Given the description of an element on the screen output the (x, y) to click on. 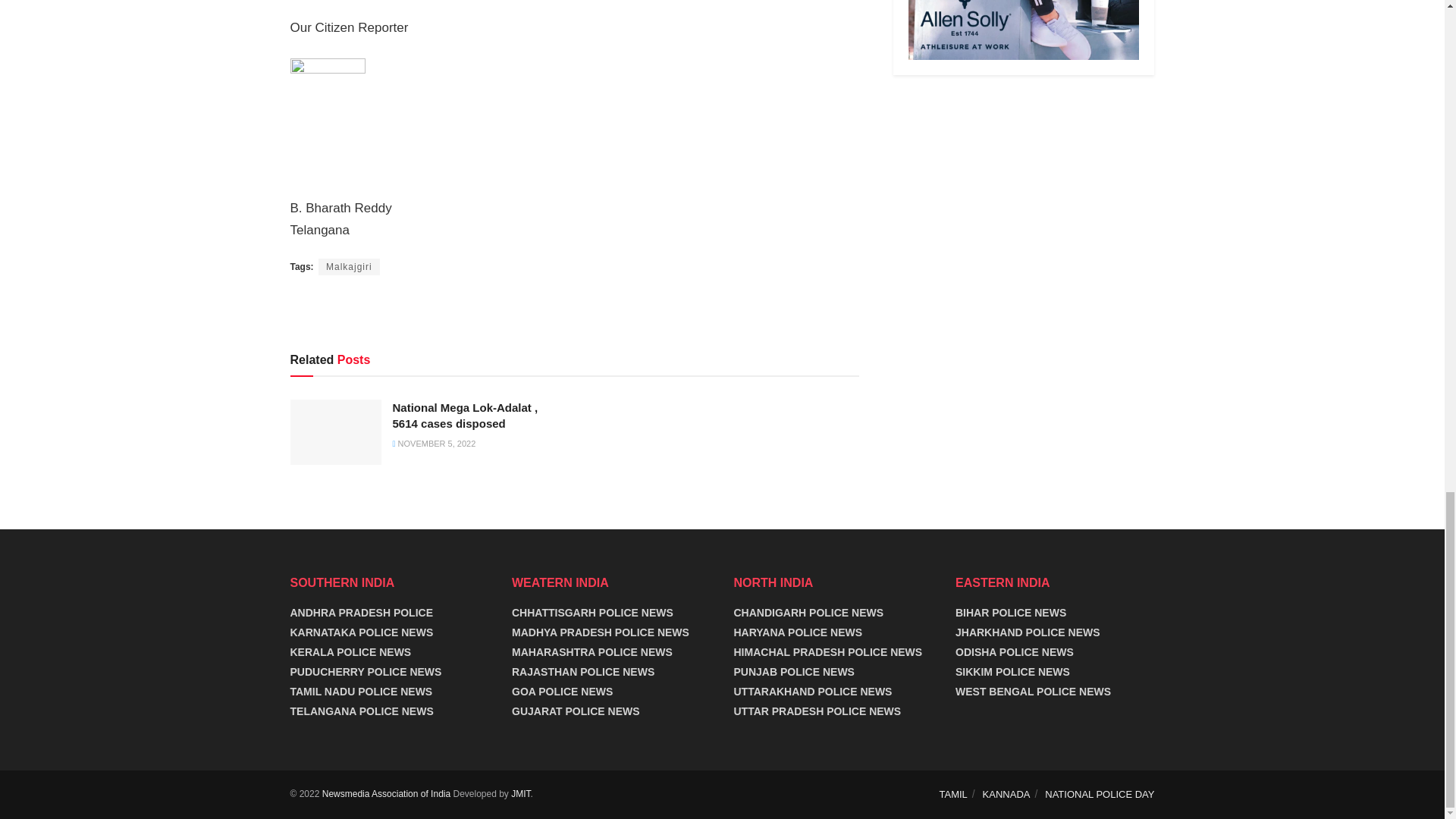
Jenson Media Infotech Pvt Ltd (520, 793)
Newsmedia Association of India (385, 793)
